Given the description of an element on the screen output the (x, y) to click on. 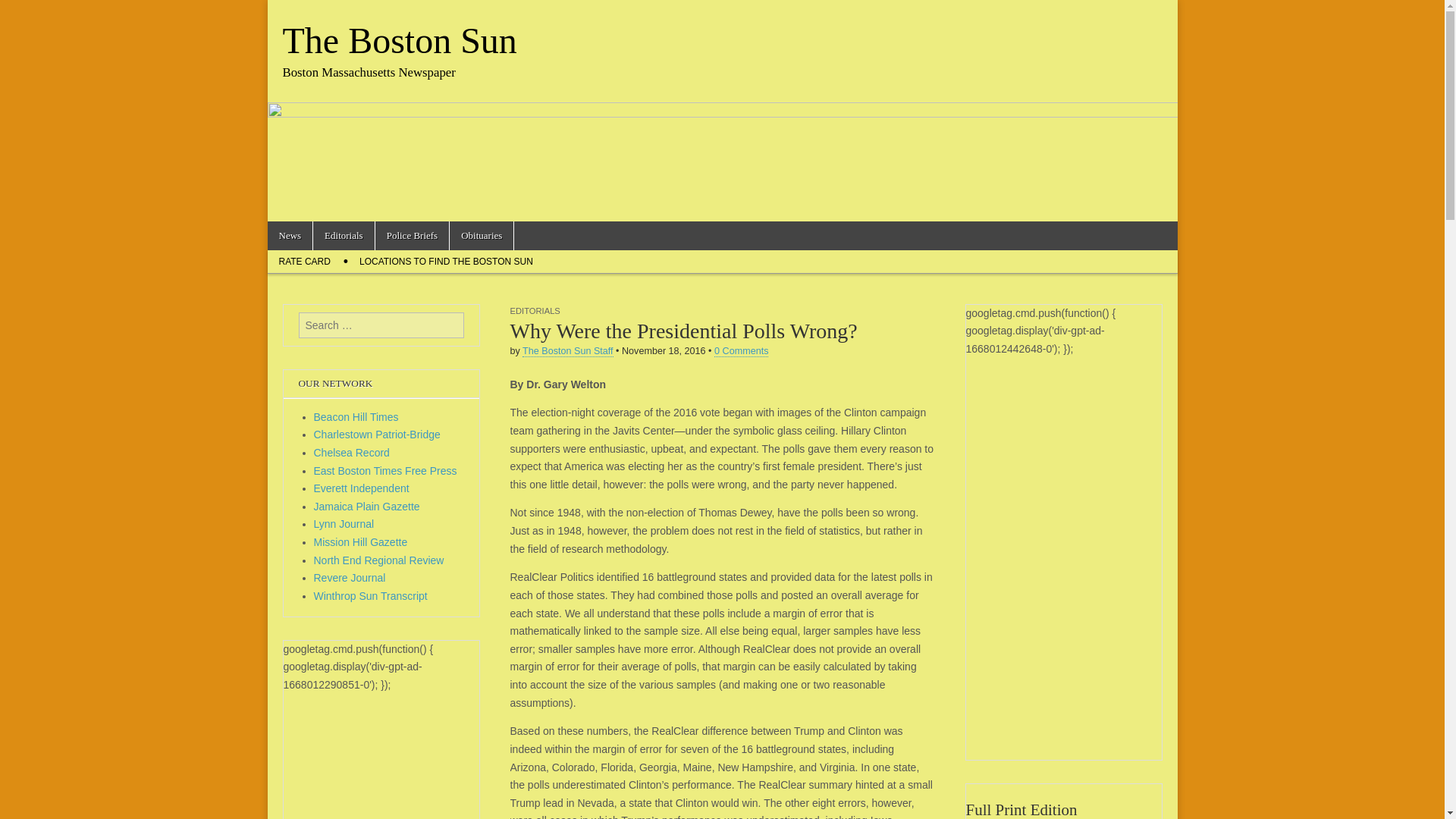
Winthrop Sun Transcript (371, 595)
East Boston Times Free Press (385, 470)
LOCATIONS TO FIND THE BOSTON SUN (445, 261)
0 Comments (741, 351)
Beacon Hill Times (356, 417)
Revere Journal (349, 577)
North End Regional Review (379, 560)
RATE CARD (303, 261)
Lynn Journal (344, 523)
